Given the description of an element on the screen output the (x, y) to click on. 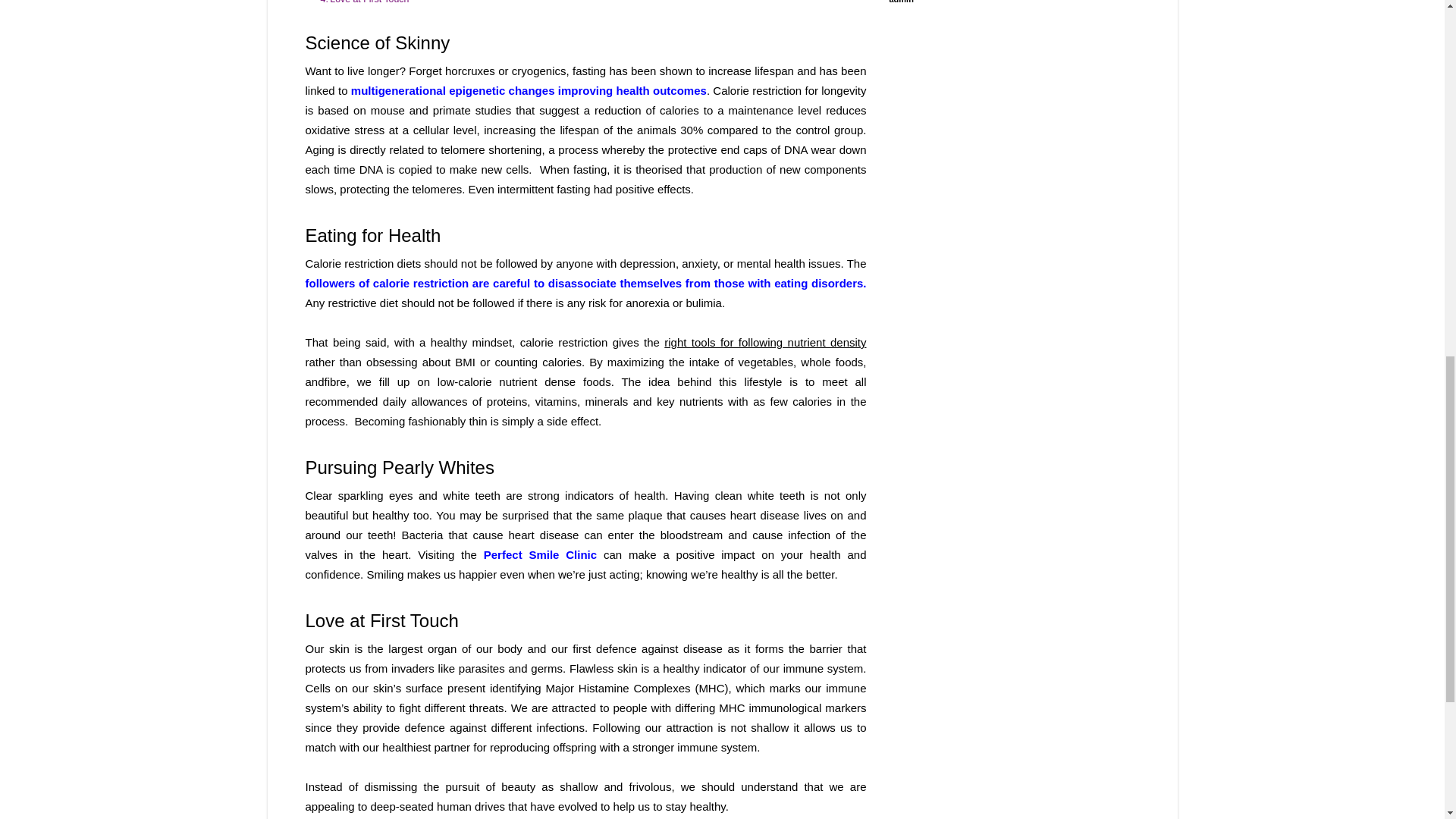
Love at First Touch (369, 2)
Perfect Smile Clinic (539, 554)
Love at First Touch (369, 2)
